Given the description of an element on the screen output the (x, y) to click on. 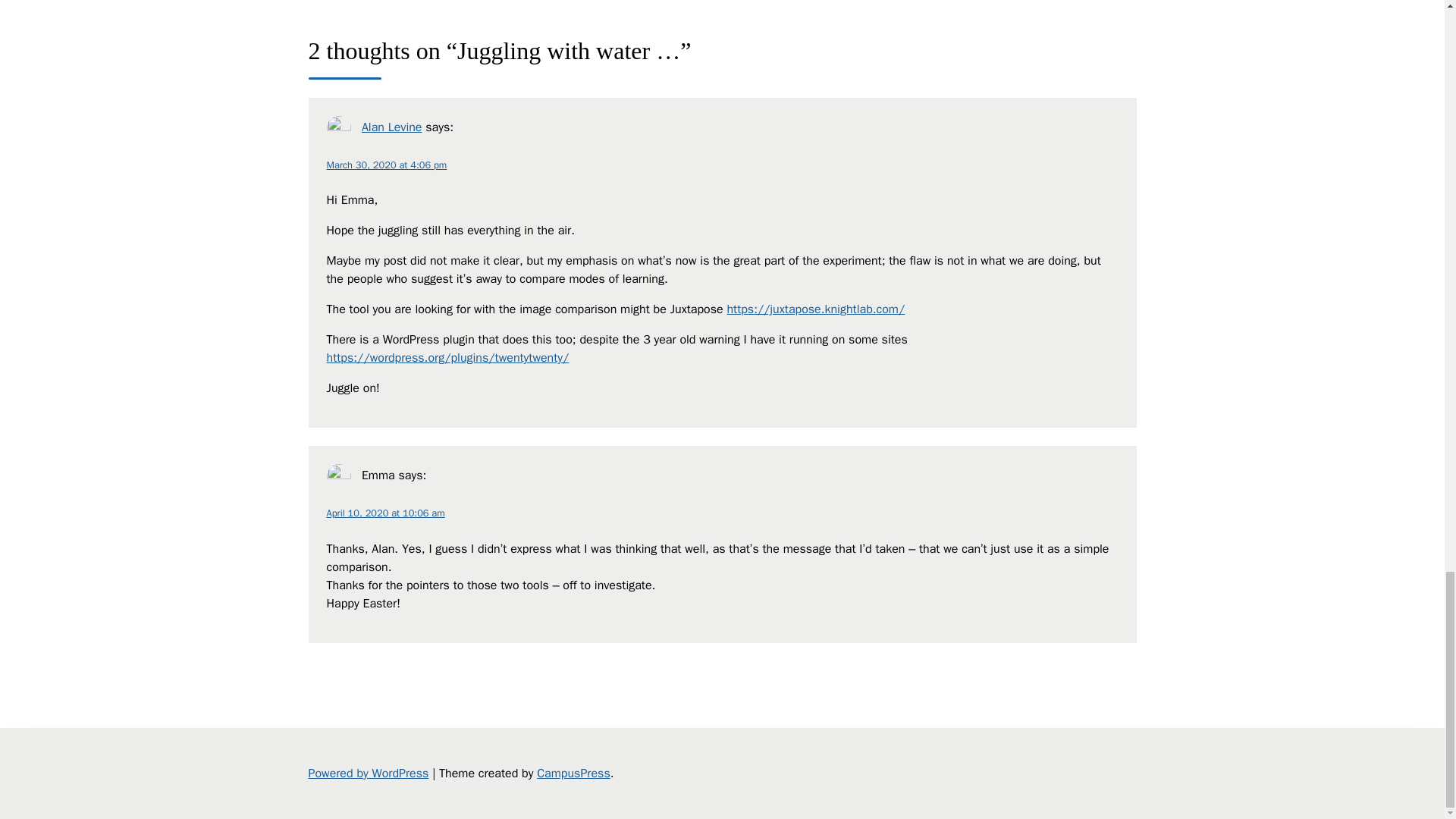
Alan Levine (391, 127)
April 10, 2020 at 10:06 am (385, 512)
Powered by WordPress (367, 773)
March 30, 2020 at 4:06 pm (386, 164)
CampusPress (573, 773)
